Given the description of an element on the screen output the (x, y) to click on. 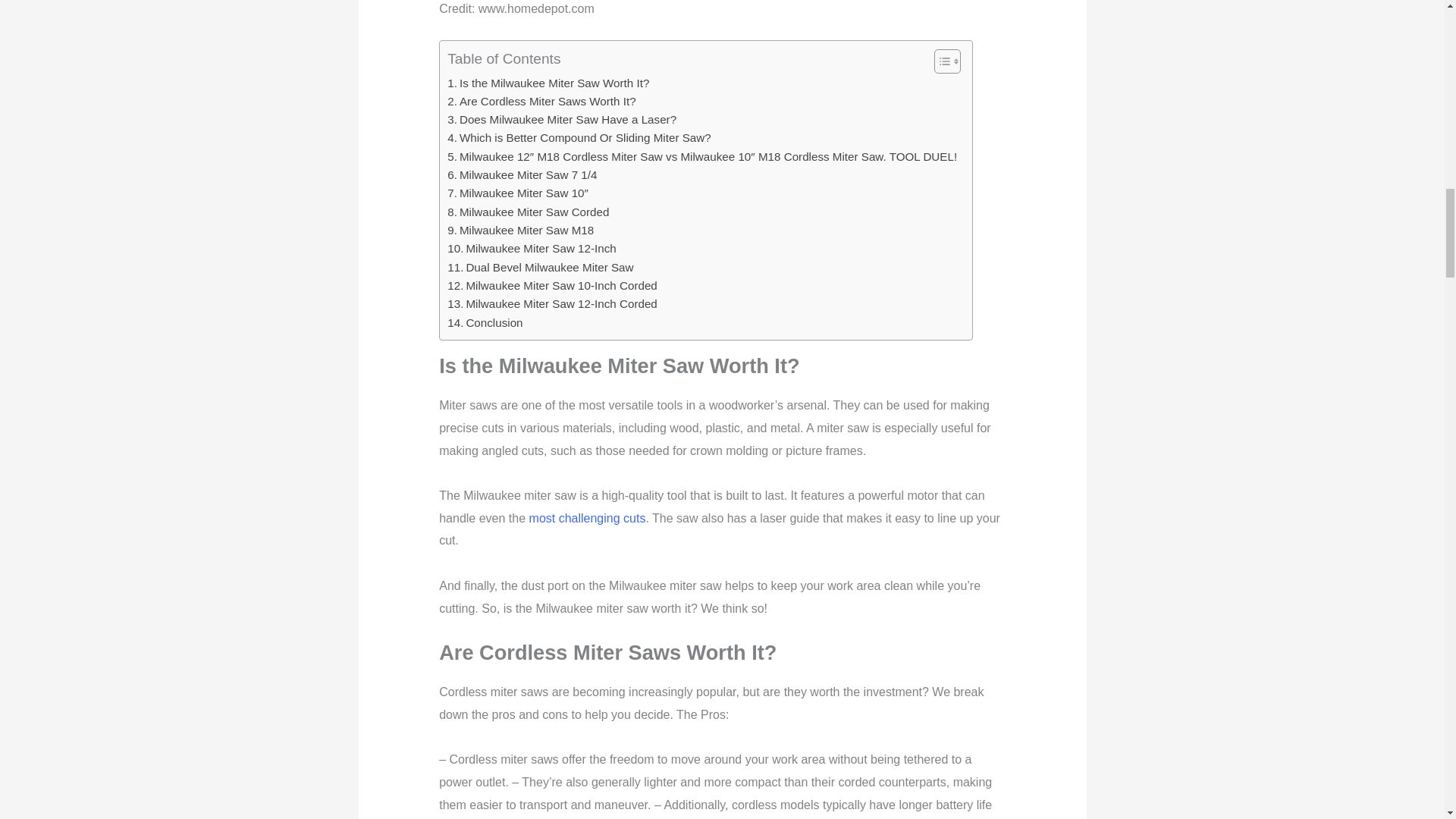
Which is Better Compound Or Sliding Miter Saw?  (578, 137)
Dual Bevel Milwaukee Miter Saw  (539, 267)
Milwaukee Miter Saw Corded  (527, 212)
Conclusion  (484, 322)
Does Milwaukee Miter Saw Have a Laser?  (561, 119)
Are Cordless Miter Saws Worth It?  (540, 101)
Milwaukee Miter Saw 12-Inch Corded  (552, 303)
Milwaukee Miter Saw 10-Inch Corded  (552, 285)
Is the Milwaukee Miter Saw Worth It?  (547, 83)
Milwaukee Miter Saw 12-Inch  (530, 248)
Milwaukee Miter Saw M18  (520, 230)
